Given the description of an element on the screen output the (x, y) to click on. 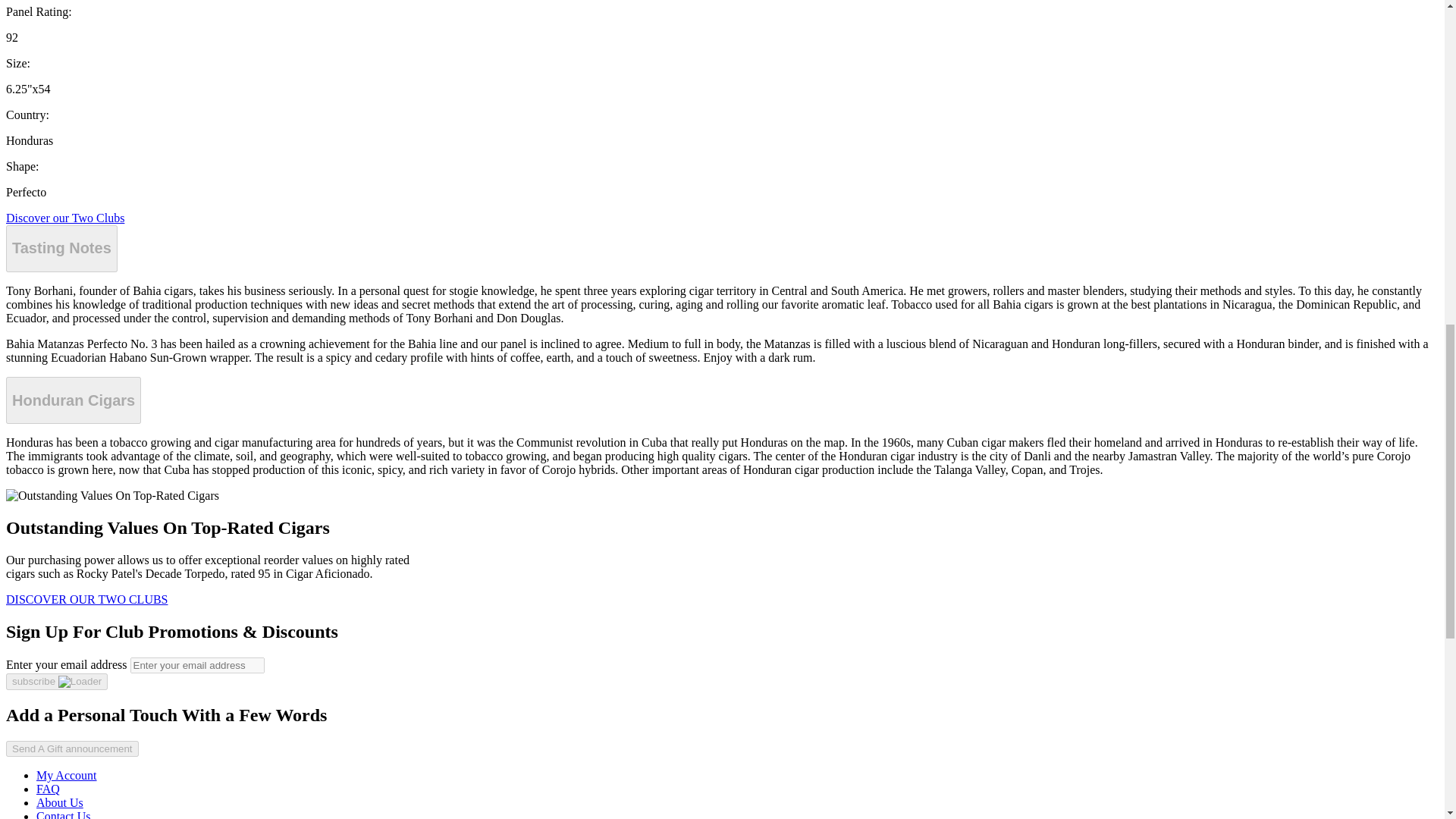
DISCOVER OUR TWO CLUBS (86, 599)
Tasting Notes (61, 248)
Discover our Two Clubs (64, 217)
Honduran Cigars (73, 400)
subscribe (56, 681)
